Given the description of an element on the screen output the (x, y) to click on. 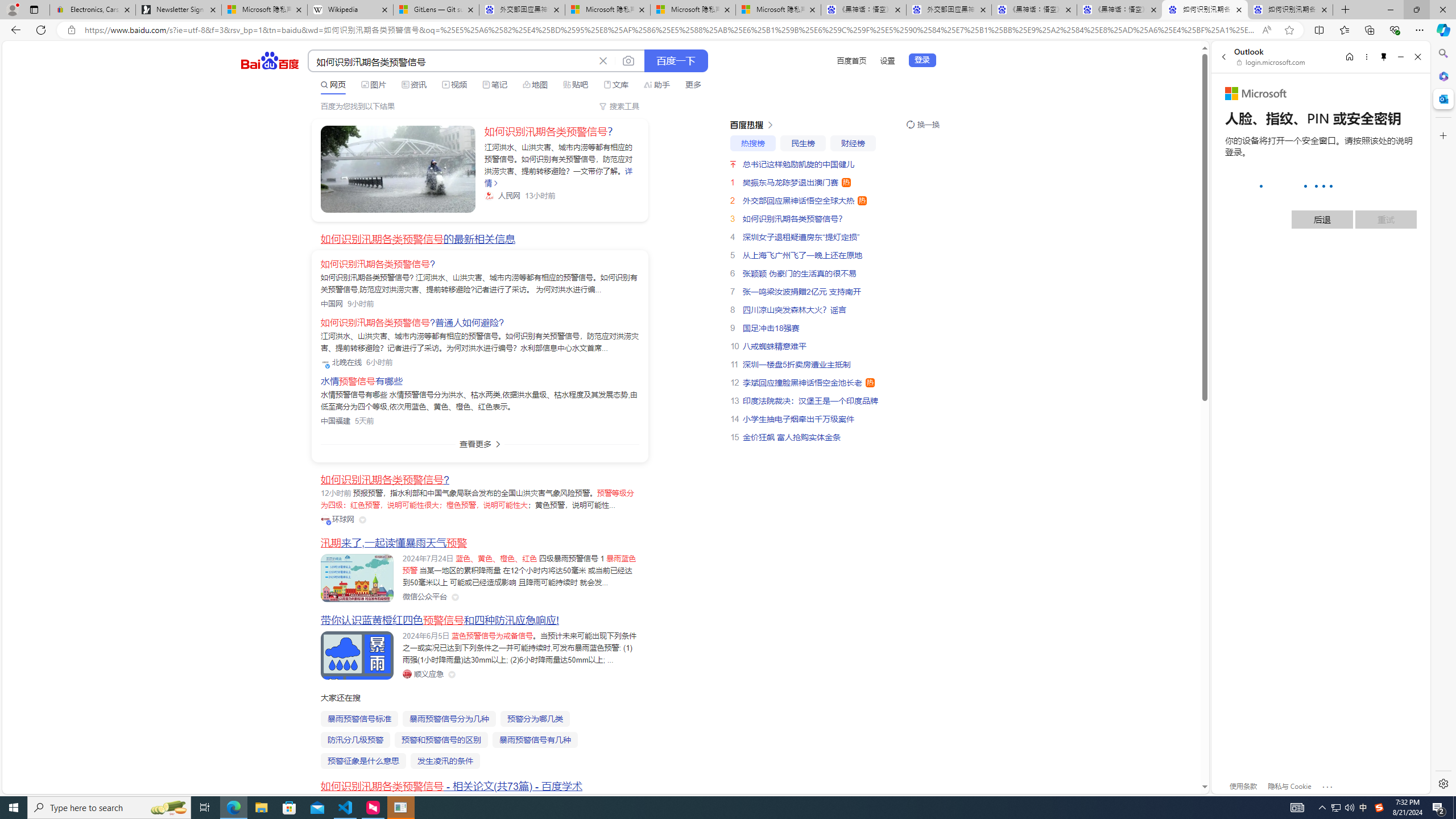
Newsletter Sign Up (178, 9)
